Given the description of an element on the screen output the (x, y) to click on. 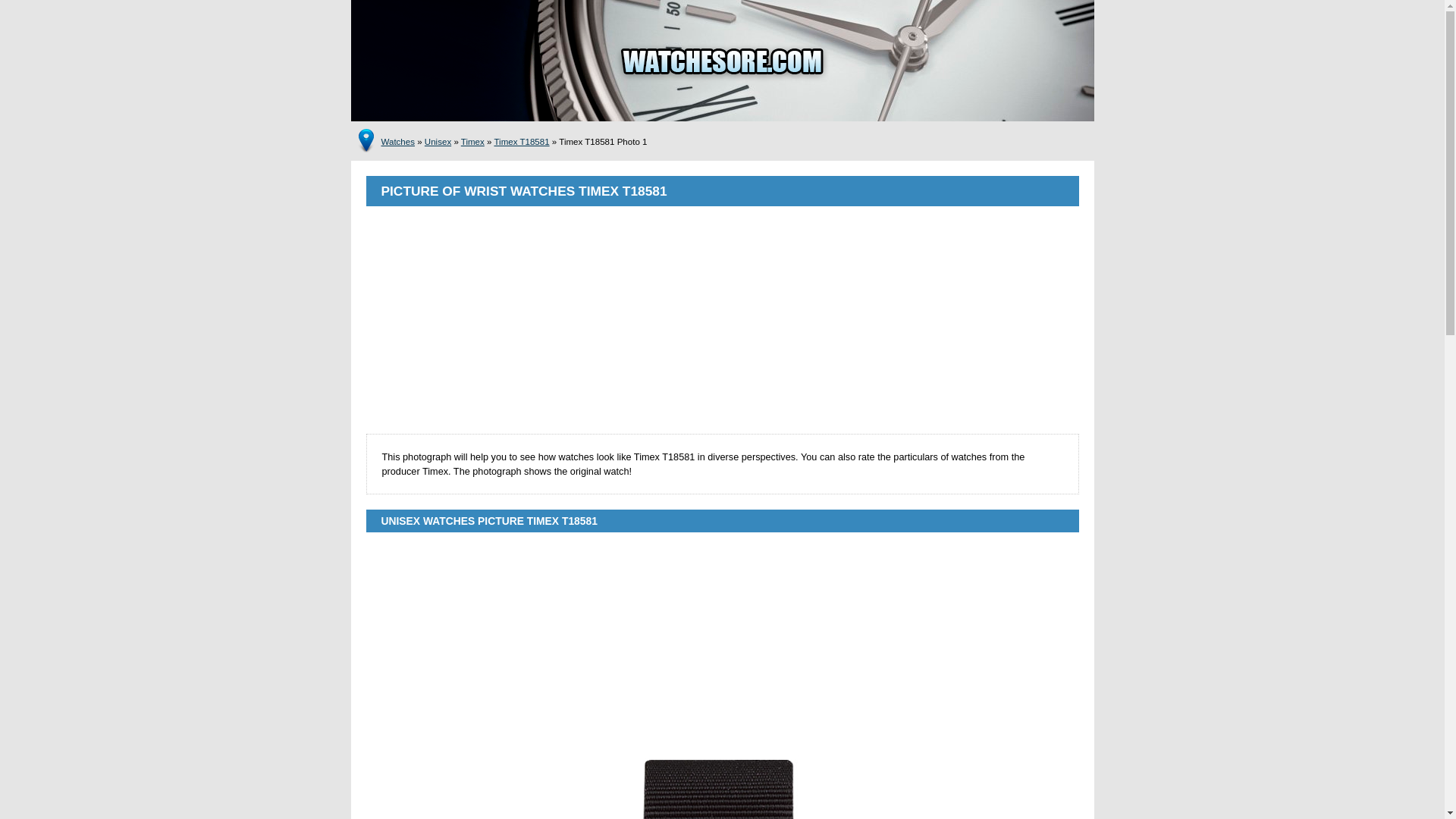
Timex T18581 - 1 picture (721, 785)
Unisex (438, 141)
Timex T18581 (520, 141)
Watches (397, 141)
Timex (472, 141)
